Given the description of an element on the screen output the (x, y) to click on. 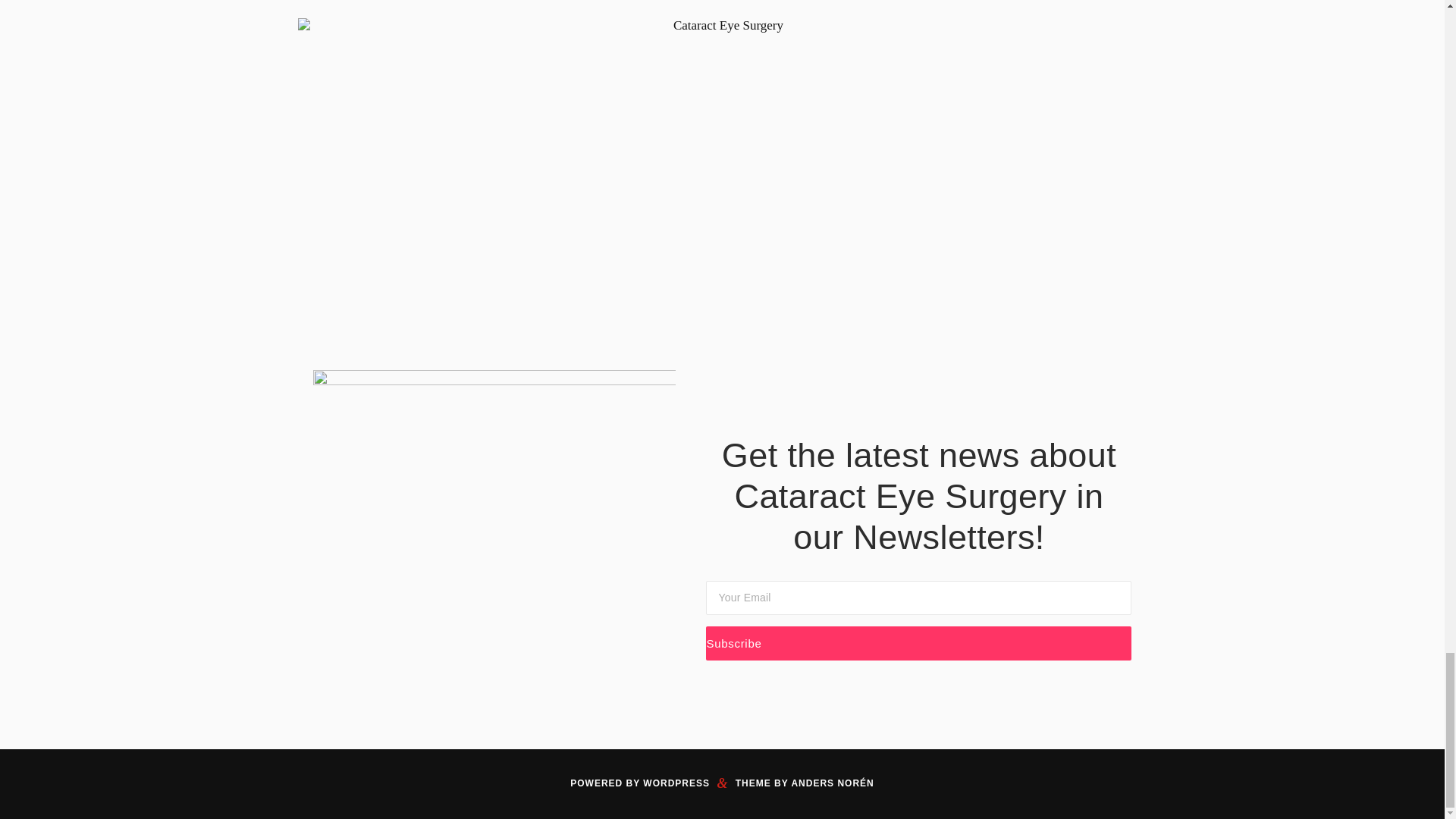
WORDPRESS (676, 783)
Subscribe (918, 643)
